Given the description of an element on the screen output the (x, y) to click on. 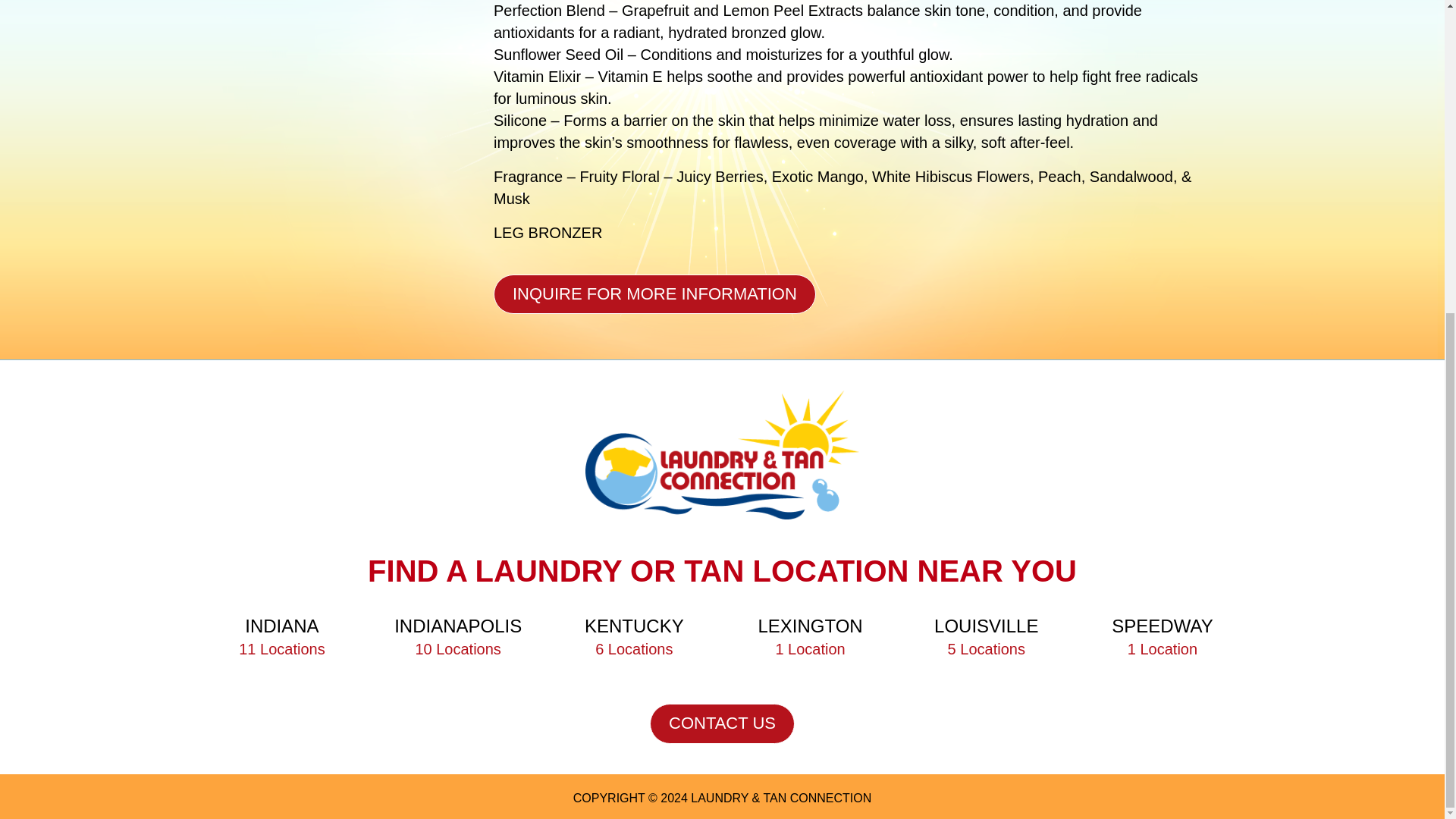
CONTACT US (721, 722)
INQUIRE FOR MORE INFORMATION (654, 293)
Speedway (1162, 630)
Lexington (810, 630)
Kentucky (986, 630)
Indianapolis (633, 630)
Louisville (810, 630)
Indiana (457, 630)
